Given the description of an element on the screen output the (x, y) to click on. 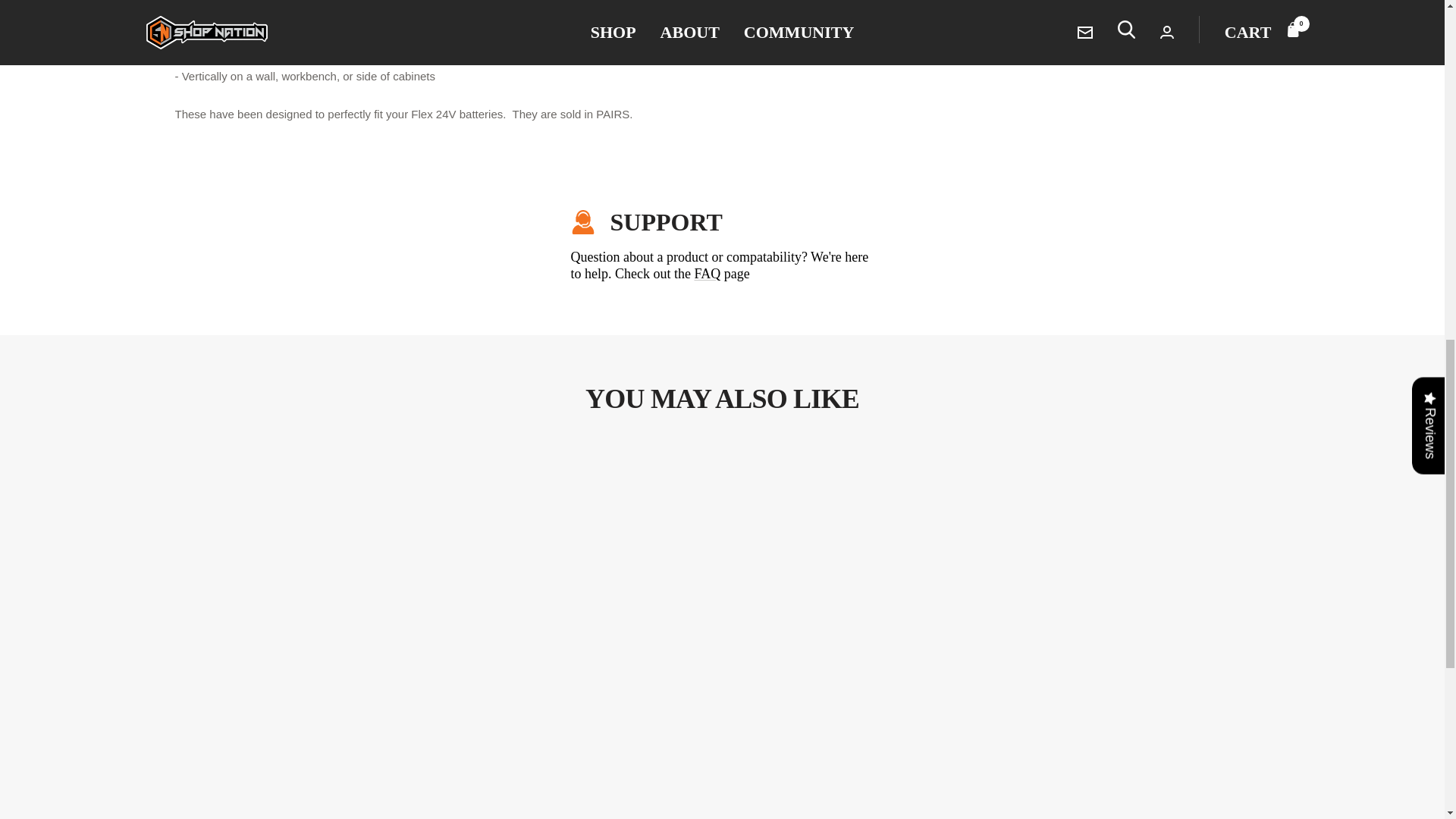
FAQ (707, 273)
